Given the description of an element on the screen output the (x, y) to click on. 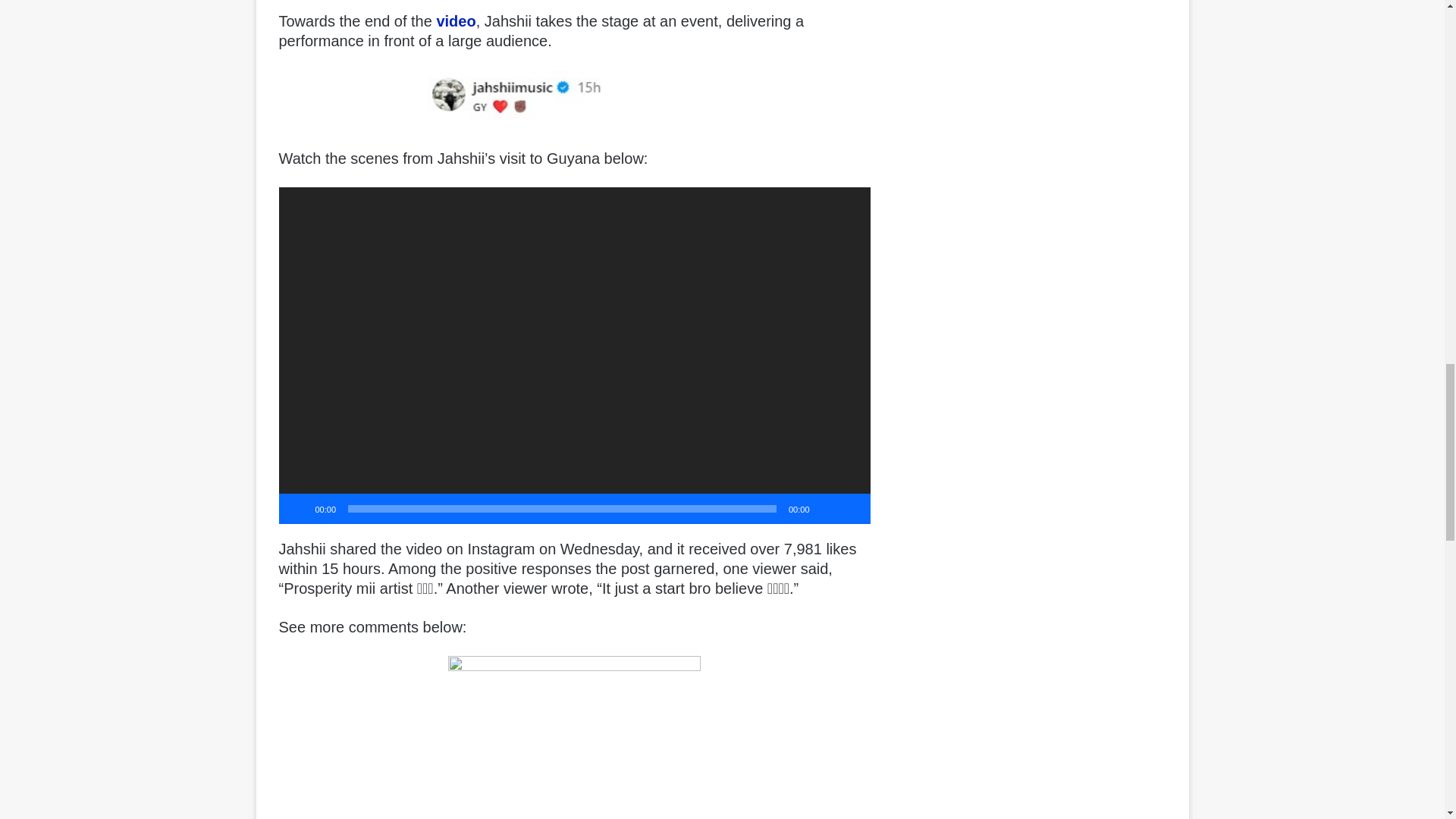
Play (298, 508)
video (455, 21)
Mute (826, 508)
Fullscreen (851, 508)
